Given the description of an element on the screen output the (x, y) to click on. 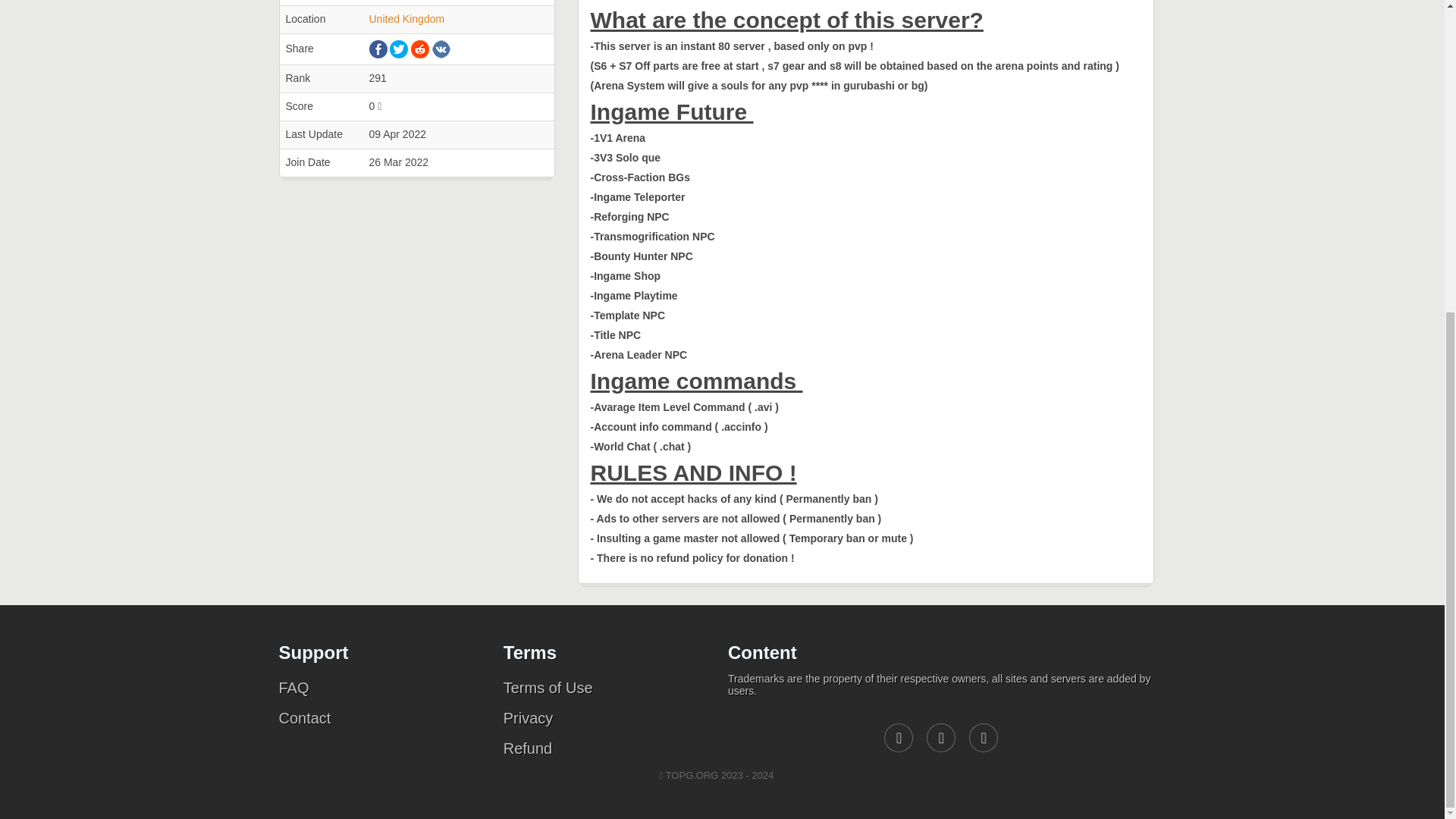
United Kingdom (406, 19)
